Given the description of an element on the screen output the (x, y) to click on. 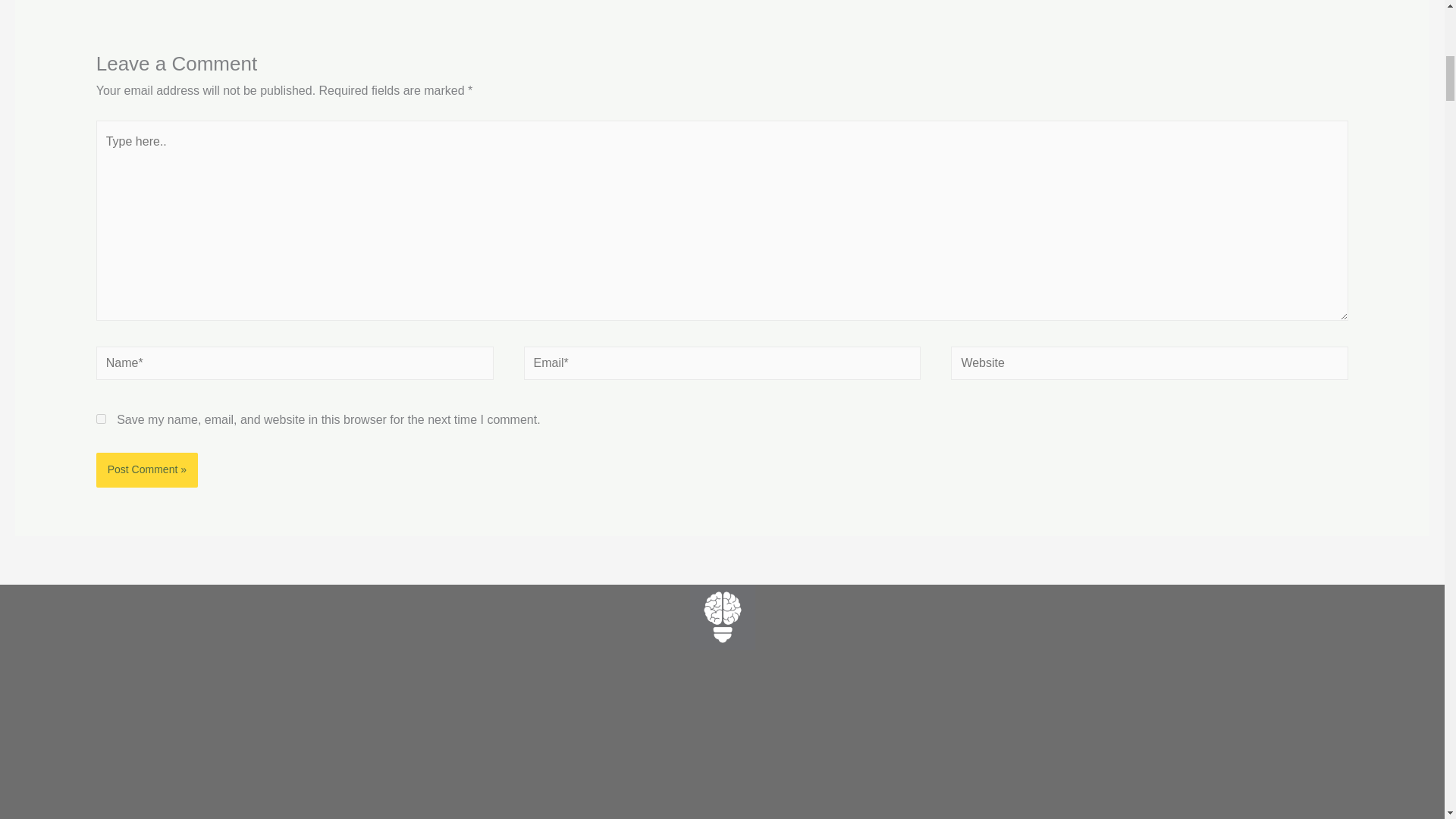
yes (101, 419)
